Given the description of an element on the screen output the (x, y) to click on. 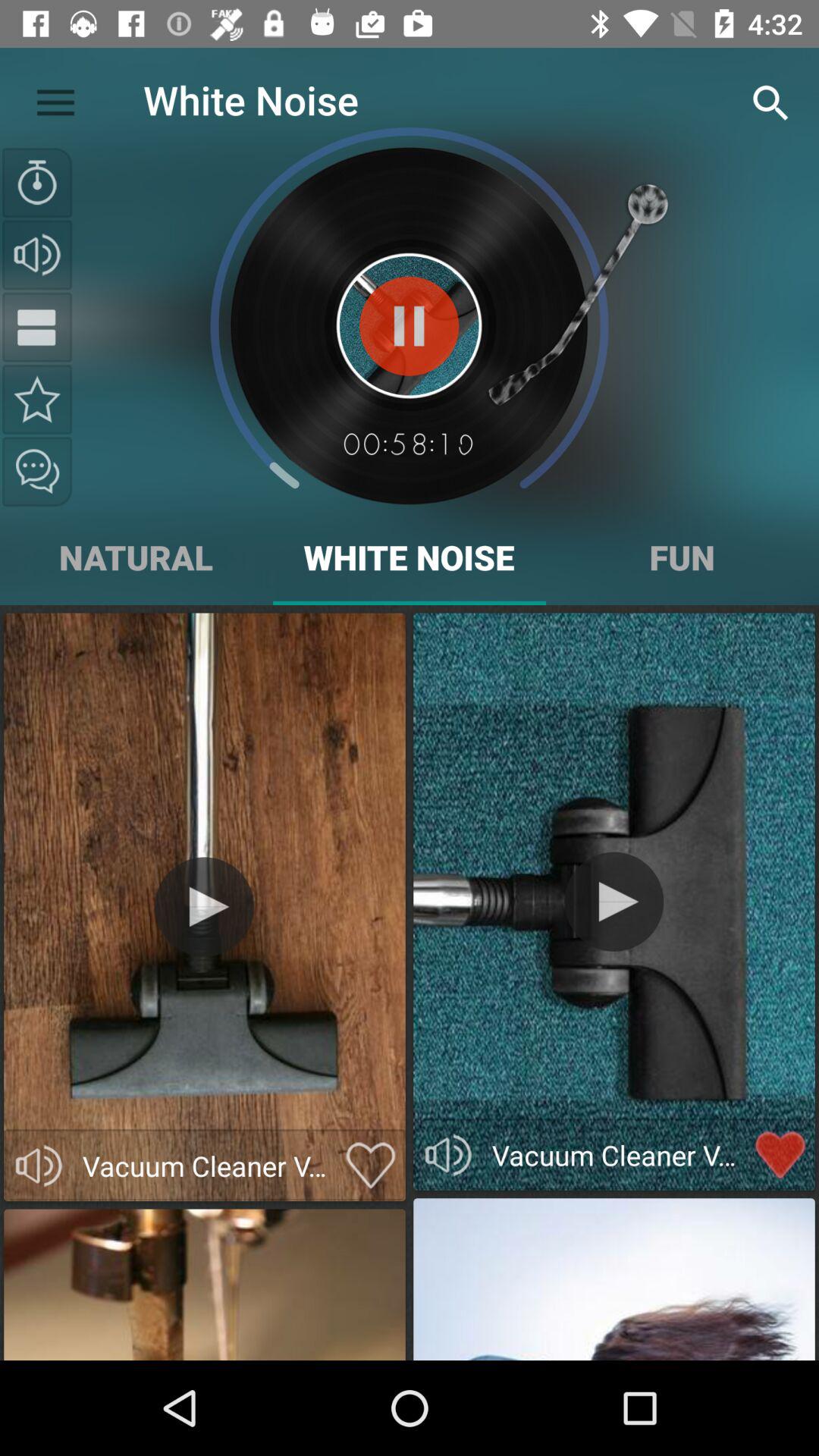
pause option (37, 327)
